Given the description of an element on the screen output the (x, y) to click on. 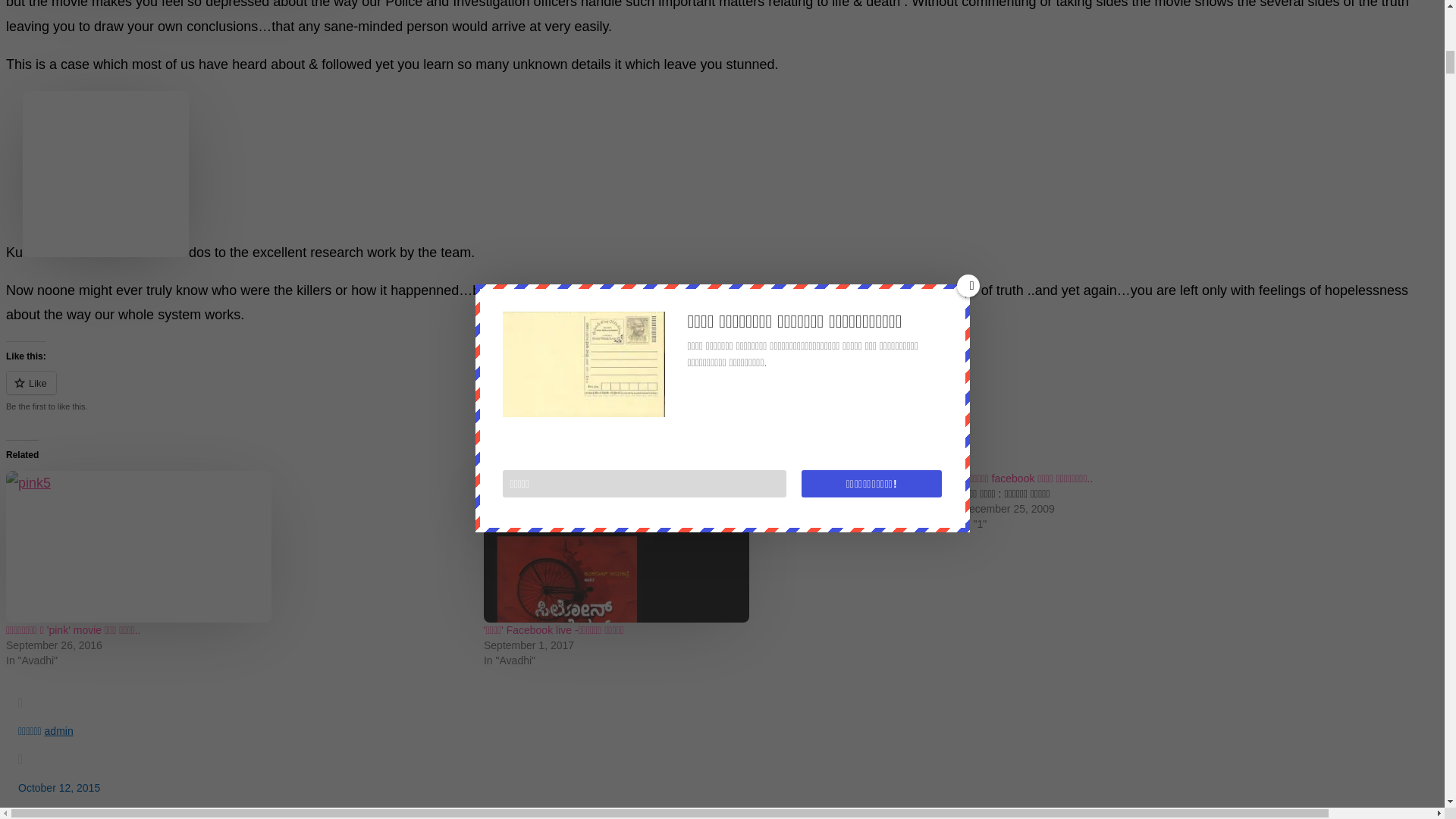
admin (59, 730)
Like or Reblog (721, 391)
